Given the description of an element on the screen output the (x, y) to click on. 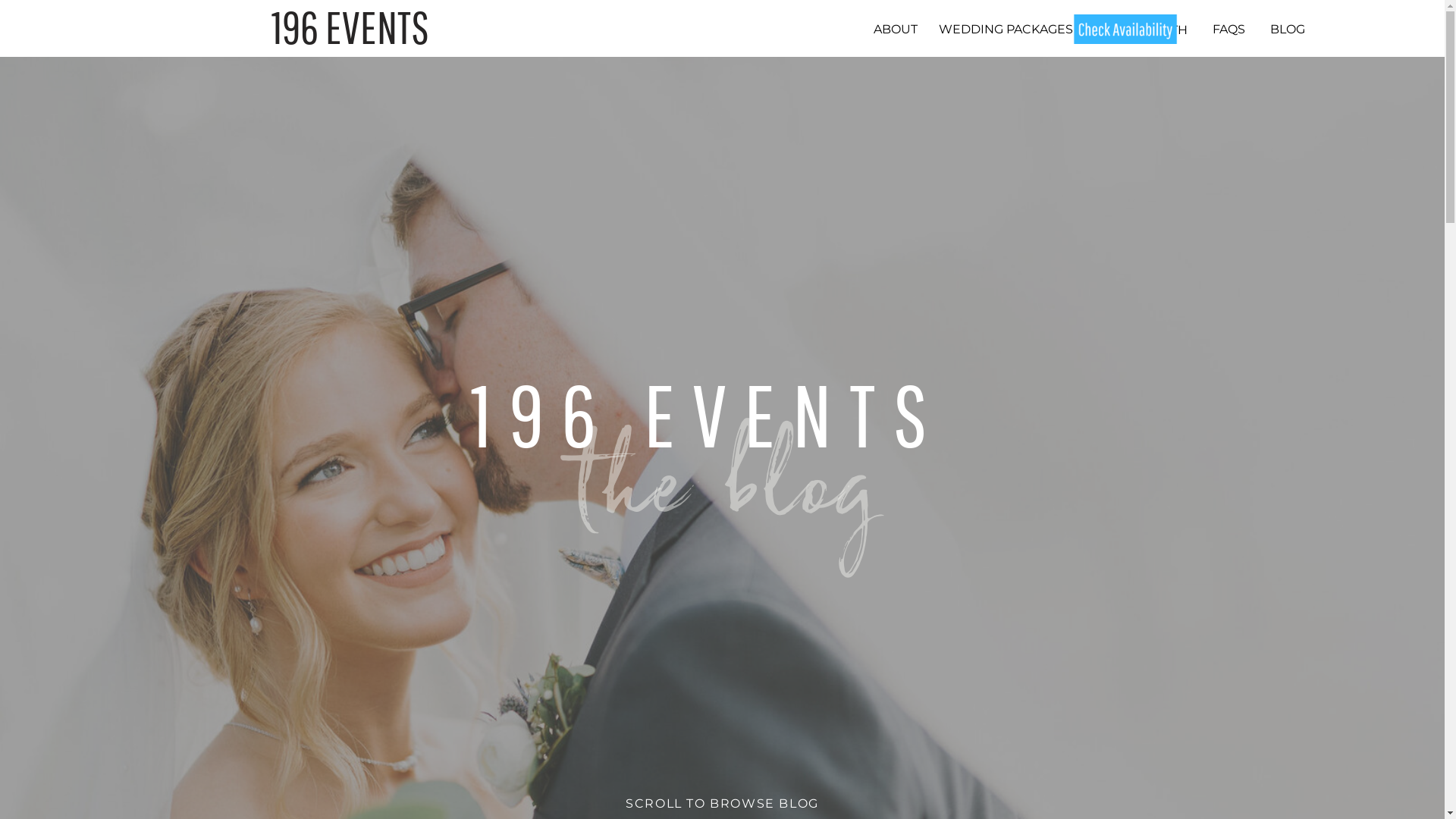
FAQS Element type: text (1228, 28)
PHOTO BOOTH Element type: text (1140, 28)
WEDDING PACKAGES Element type: text (1005, 28)
ABOUT Element type: text (894, 28)
196 EVENTS  Element type: text (353, 26)
BLOG Element type: text (1287, 28)
